Given the description of an element on the screen output the (x, y) to click on. 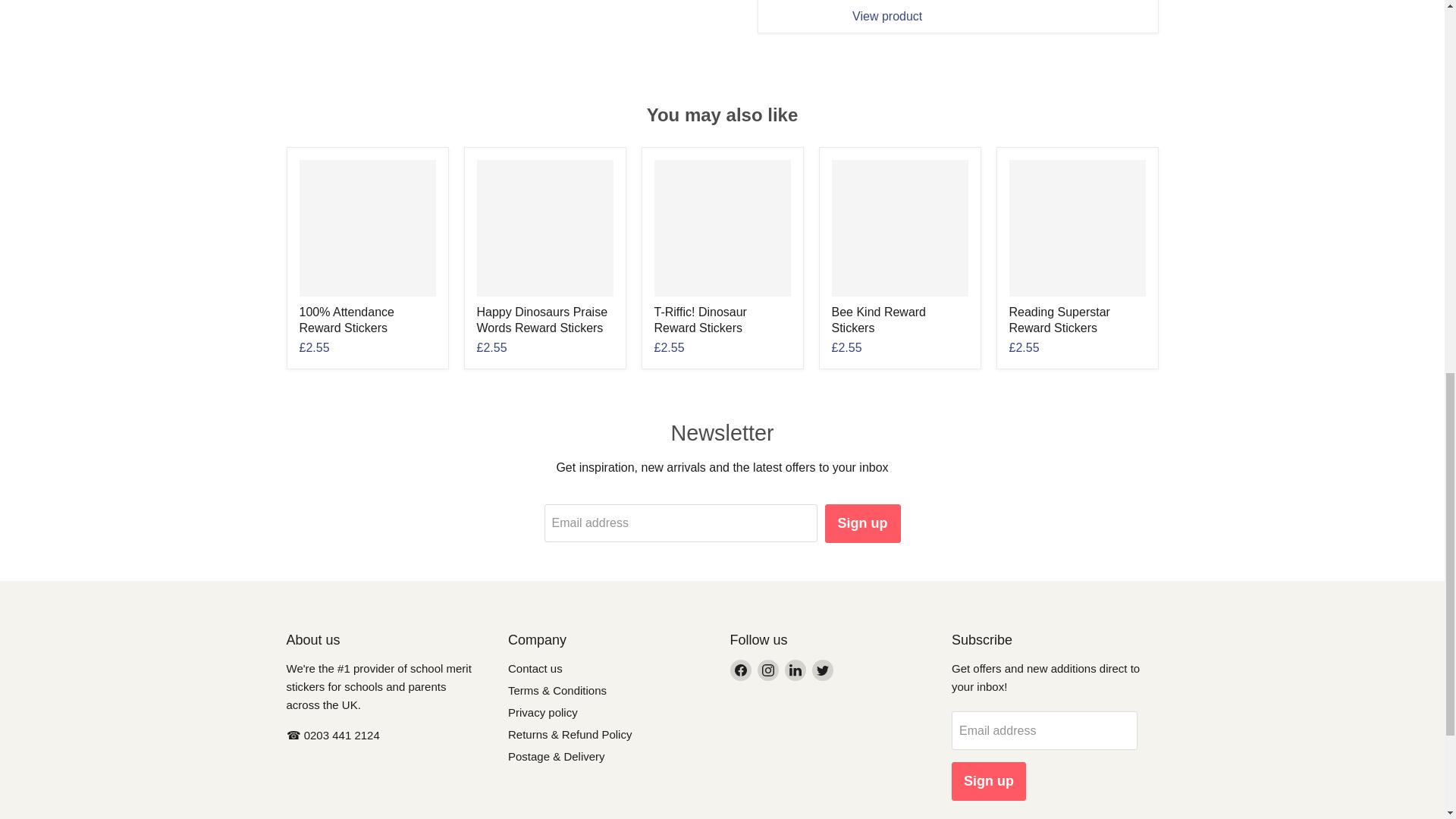
Instagram (767, 670)
LinkedIn (794, 670)
Facebook (740, 670)
Twitter (821, 670)
